Given the description of an element on the screen output the (x, y) to click on. 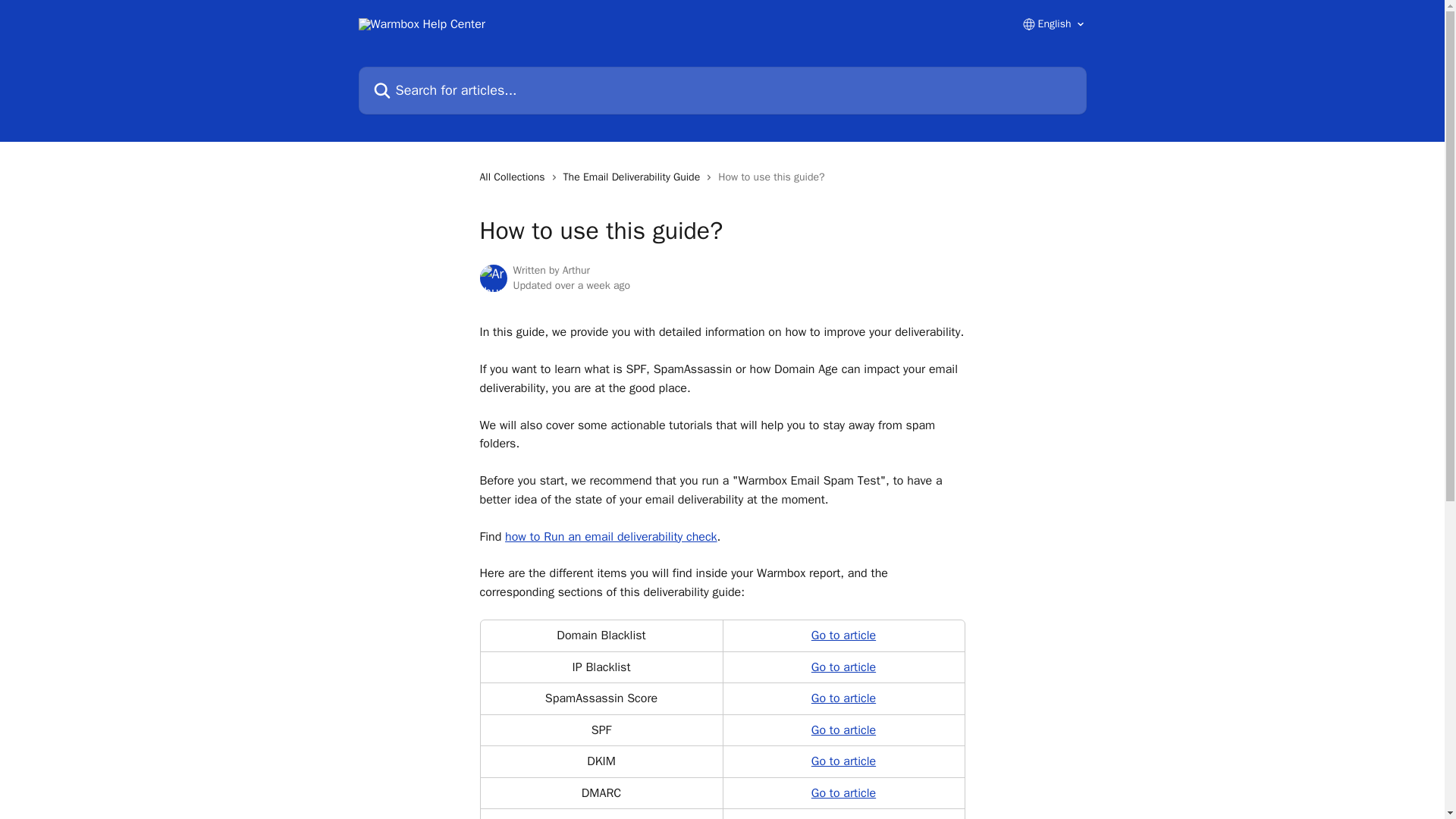
Go to article (843, 817)
Go to article (843, 729)
Go to article (843, 635)
Go to article (843, 761)
Go to article (843, 667)
All Collections (514, 176)
Go to article (843, 792)
how to Run an email deliverability check (611, 536)
Go to article (843, 698)
The Email Deliverability Guide (634, 176)
